Given the description of an element on the screen output the (x, y) to click on. 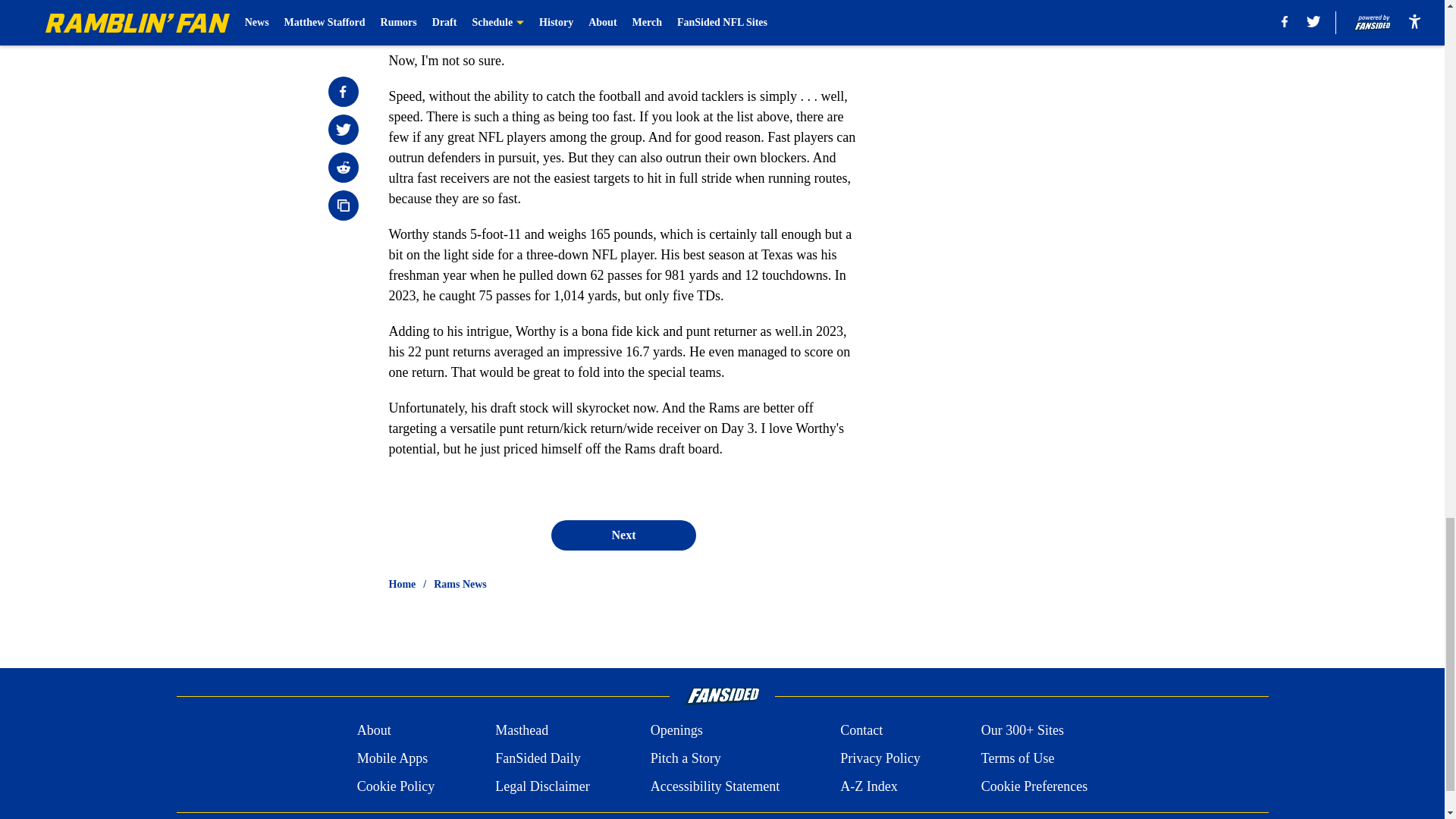
Next (622, 535)
FanSided Daily (537, 758)
March 2, 2024 (715, 15)
Pitch a Story (685, 758)
Rams News (459, 584)
Contact (861, 730)
Privacy Policy (880, 758)
Masthead (521, 730)
About (373, 730)
Mobile Apps (392, 758)
Terms of Use (1017, 758)
Openings (676, 730)
Home (401, 584)
